Given the description of an element on the screen output the (x, y) to click on. 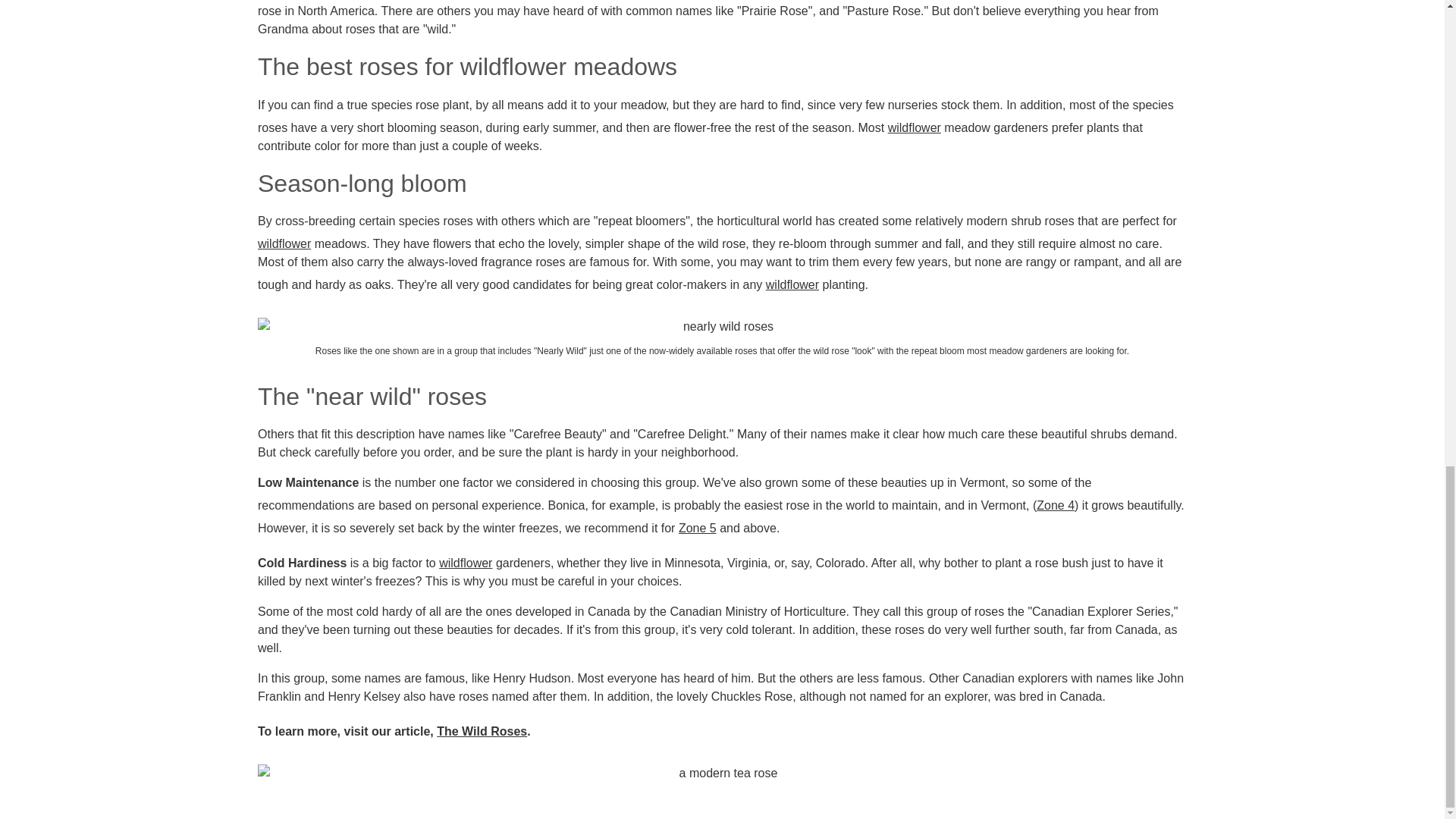
wildflower (791, 285)
wildflower (914, 127)
wildflower (284, 244)
Zone 5 (697, 528)
Zone 4 (1055, 505)
wildflower (465, 563)
The Wild Roses (481, 731)
The Wild Roses (481, 731)
